Given the description of an element on the screen output the (x, y) to click on. 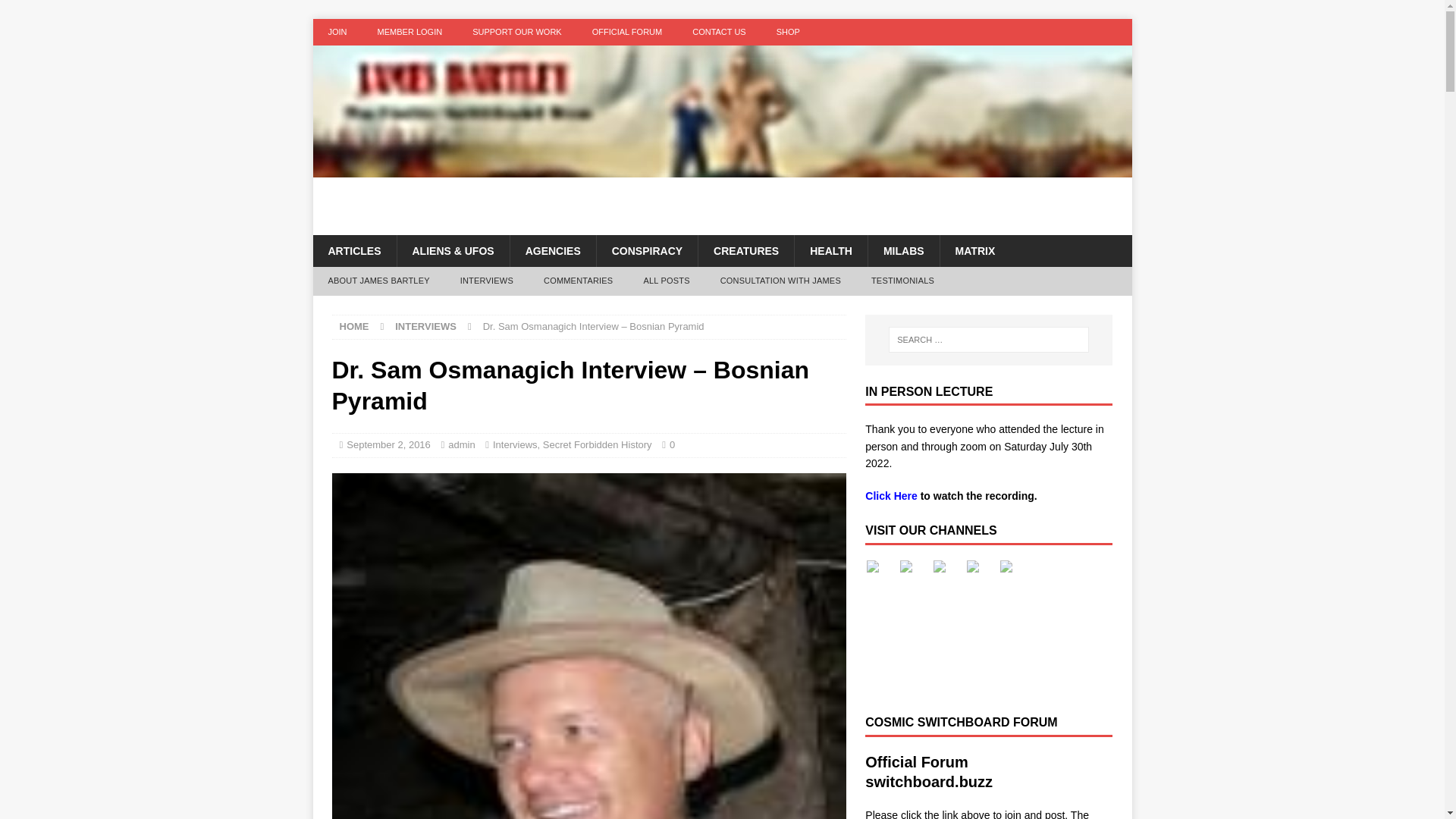
CONSPIRACY (646, 250)
HOME (354, 326)
INTERVIEWS (425, 326)
COMMENTARIES (577, 280)
ARTICLES (354, 250)
MEMBER LOGIN (410, 31)
INTERVIEWS (486, 280)
SHOP (788, 31)
CONSULTATION WITH JAMES (780, 280)
